Given the description of an element on the screen output the (x, y) to click on. 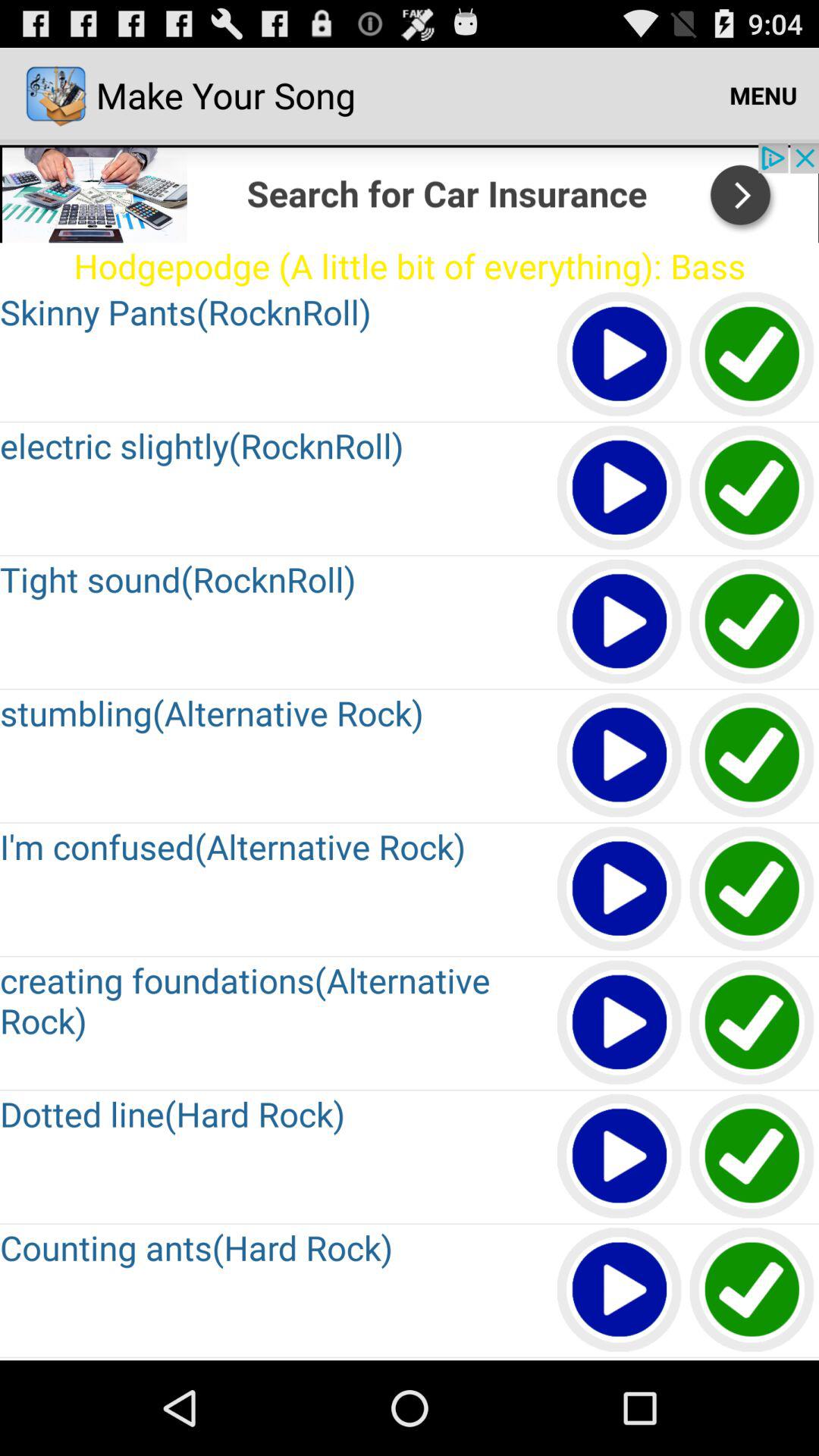
click to play option (619, 622)
